Given the description of an element on the screen output the (x, y) to click on. 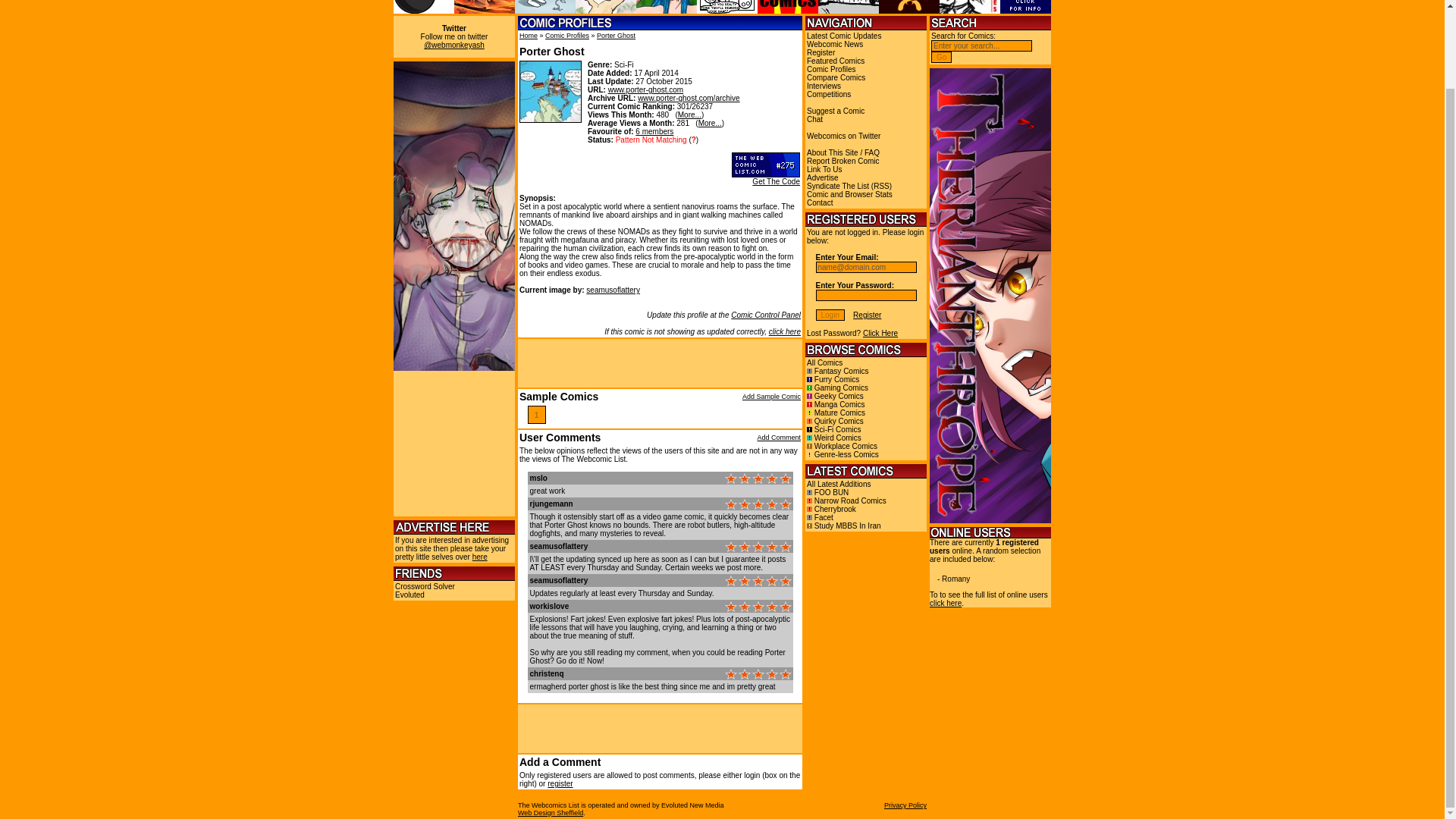
Add Comment (778, 437)
rjungemann (550, 503)
click here (784, 331)
Enter your search... (981, 45)
Home (528, 35)
Go (941, 57)
Advertisement (660, 728)
seamusoflattery (558, 580)
seamusoflattery (613, 289)
1 (536, 414)
